Given the description of an element on the screen output the (x, y) to click on. 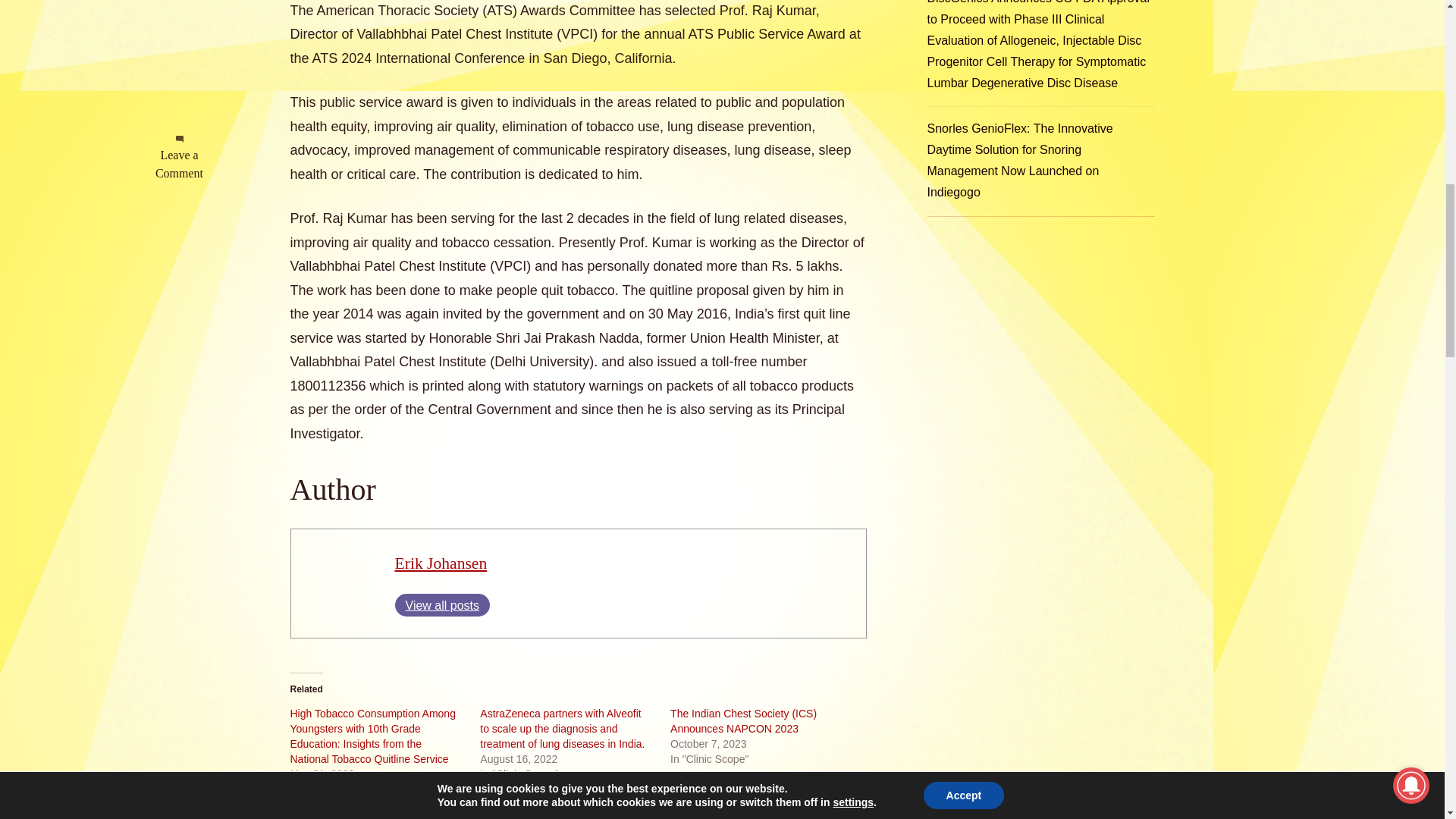
Erik Johansen (440, 563)
View all posts (441, 604)
